Given the description of an element on the screen output the (x, y) to click on. 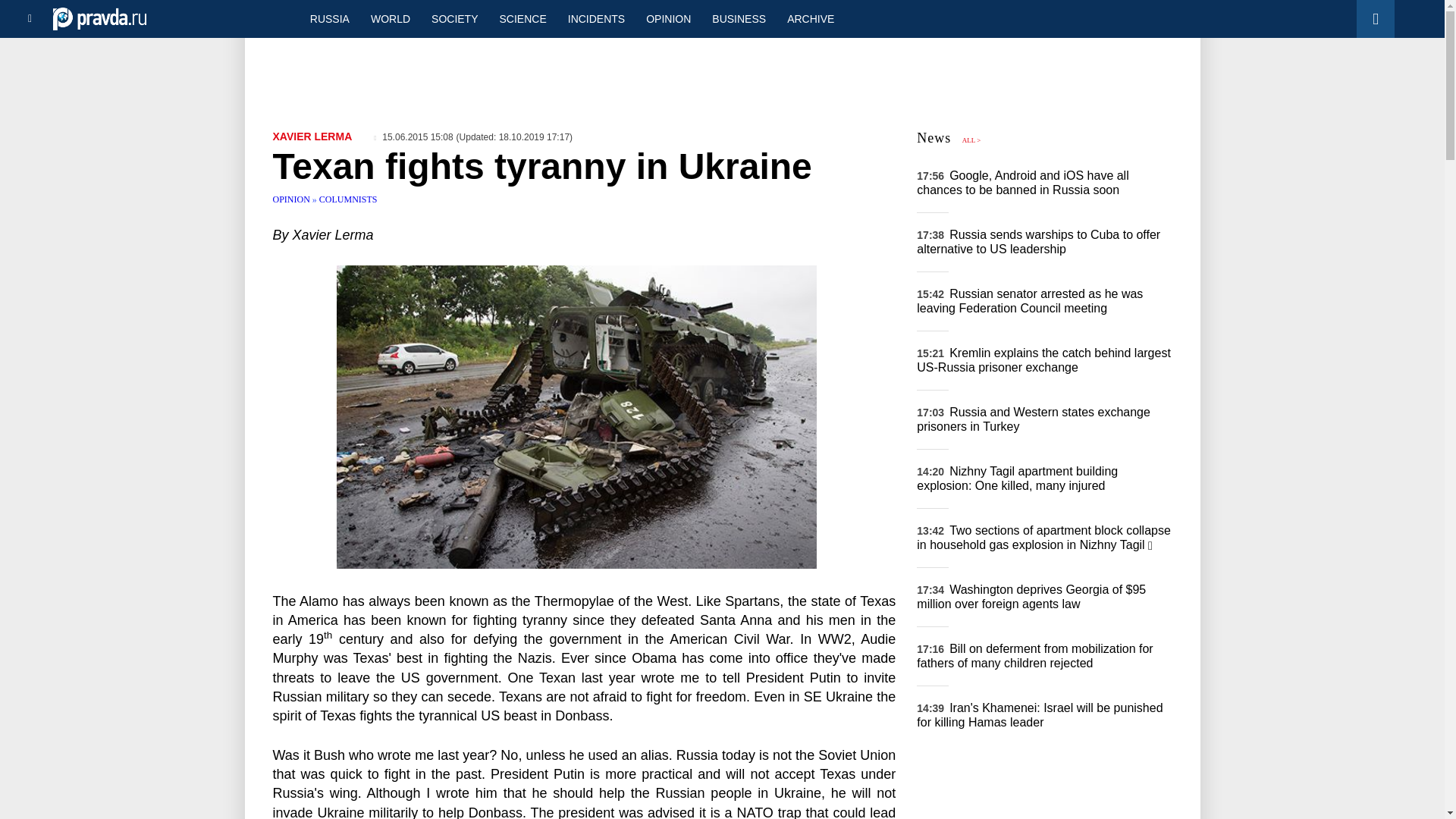
ARCHIVE (810, 18)
SOCIETY (453, 18)
SCIENCE (523, 18)
WORLD (389, 18)
RUSSIA (329, 18)
INCIDENTS (595, 18)
News (933, 137)
XAVIER LERMA (312, 136)
Russia and Western states exchange prisoners in Turkey (1033, 419)
BUSINESS (738, 18)
